Given the description of an element on the screen output the (x, y) to click on. 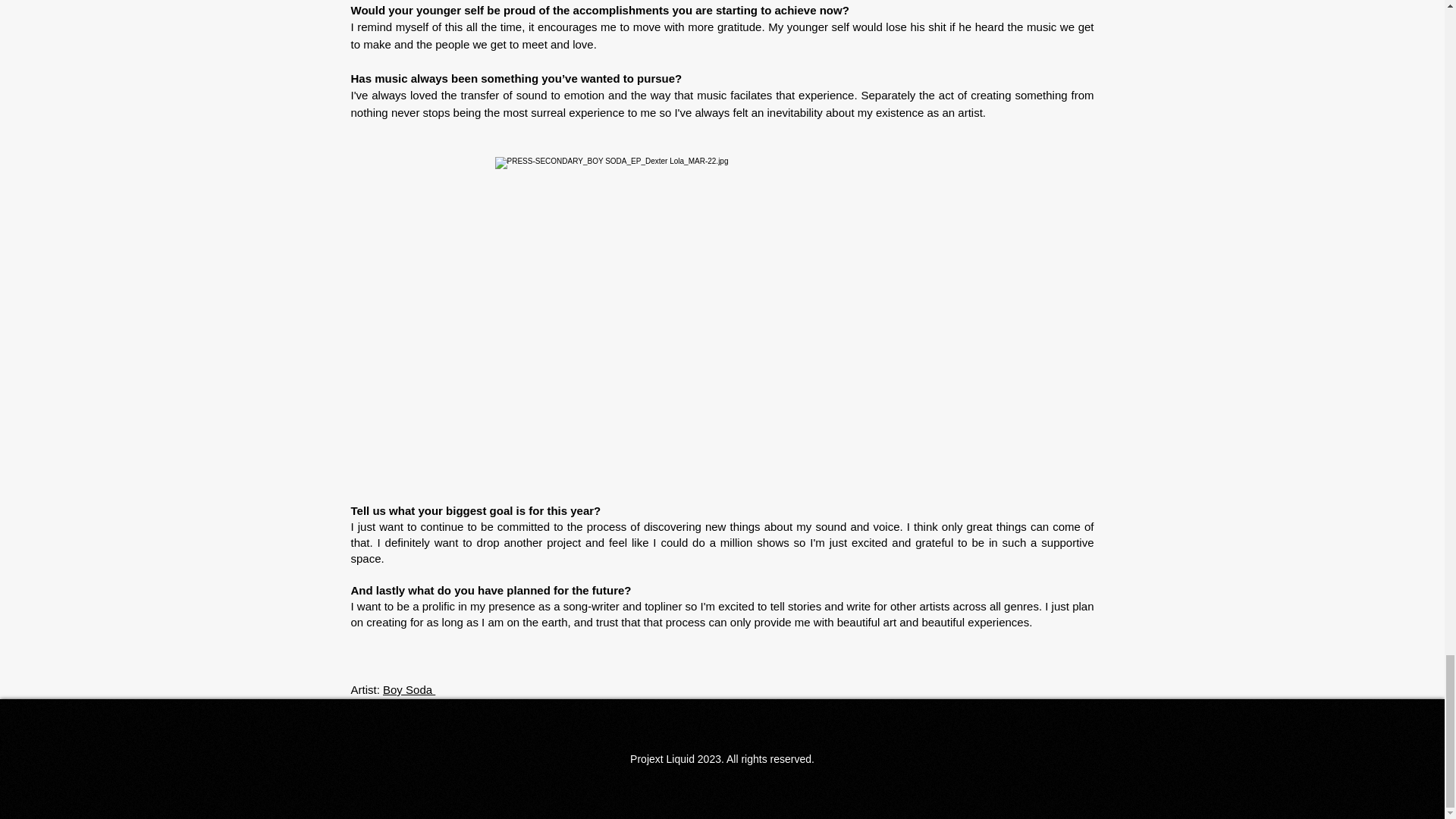
Boy Soda  (408, 689)
